Given the description of an element on the screen output the (x, y) to click on. 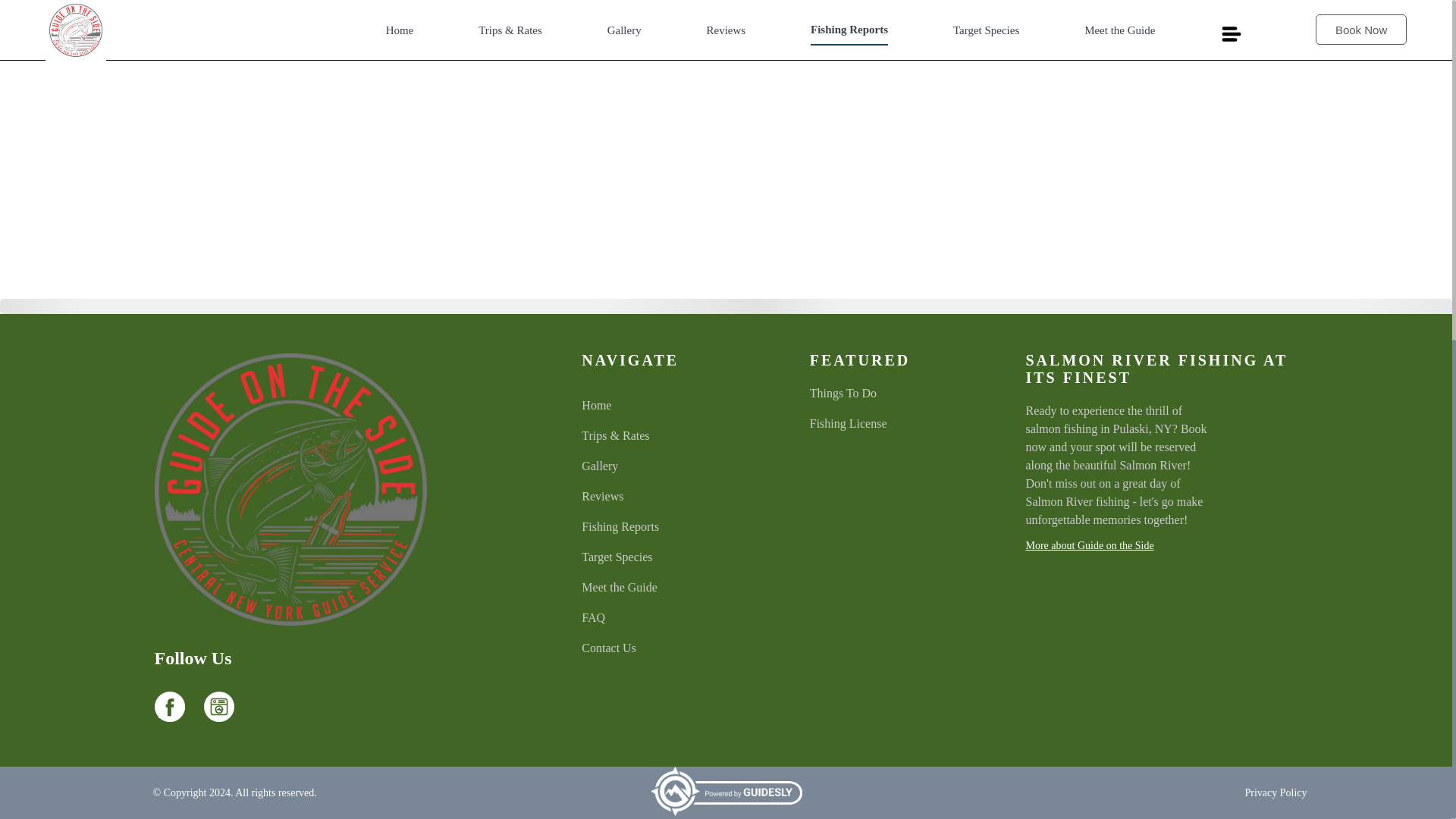
Reviews (675, 496)
Home (675, 405)
FAQ (675, 618)
Gallery (675, 466)
Contact Us (675, 648)
Target Species (675, 556)
Privacy Policy (1275, 793)
Fishing Reports (675, 526)
Meet the Guide (675, 587)
More about Guide on the Side (1161, 545)
Things To Do (903, 393)
Fishing License (903, 423)
